Given the description of an element on the screen output the (x, y) to click on. 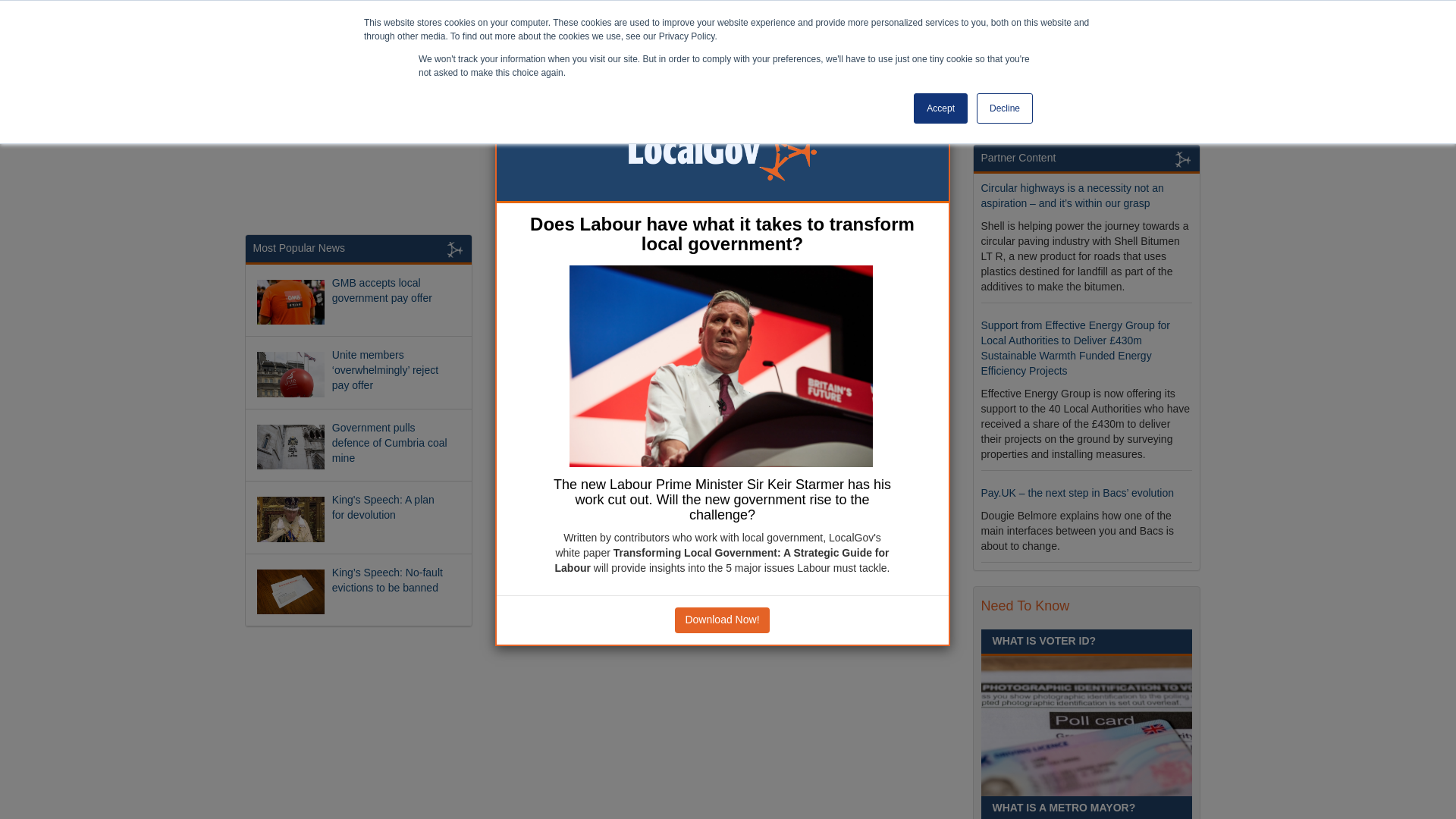
 Civil Enforcement Officer (1044, 254)
 Senior Temporary Accommodation Officer (1069, 92)
